Given the description of an element on the screen output the (x, y) to click on. 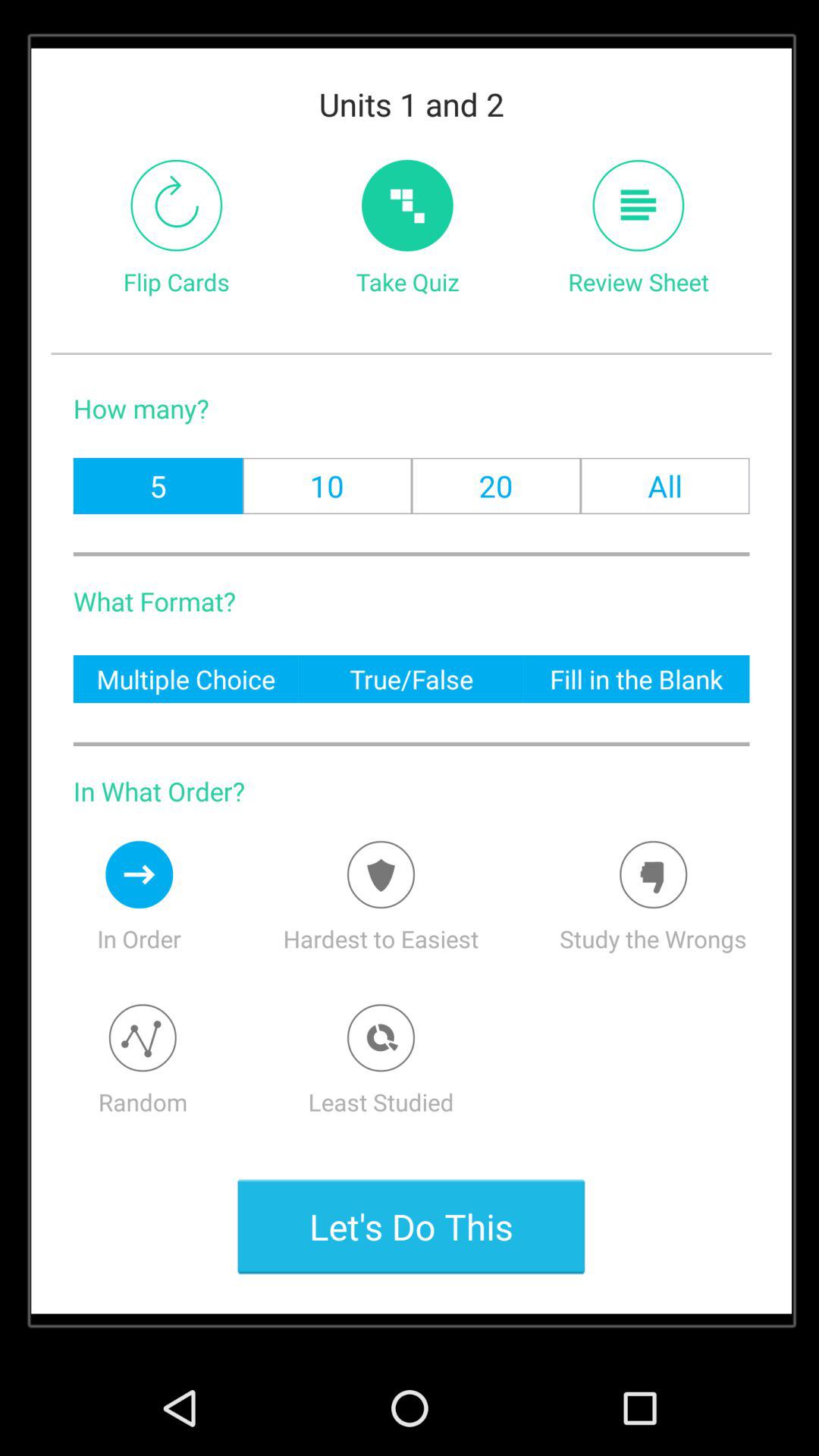
turn on the item below what format? item (185, 678)
